Given the description of an element on the screen output the (x, y) to click on. 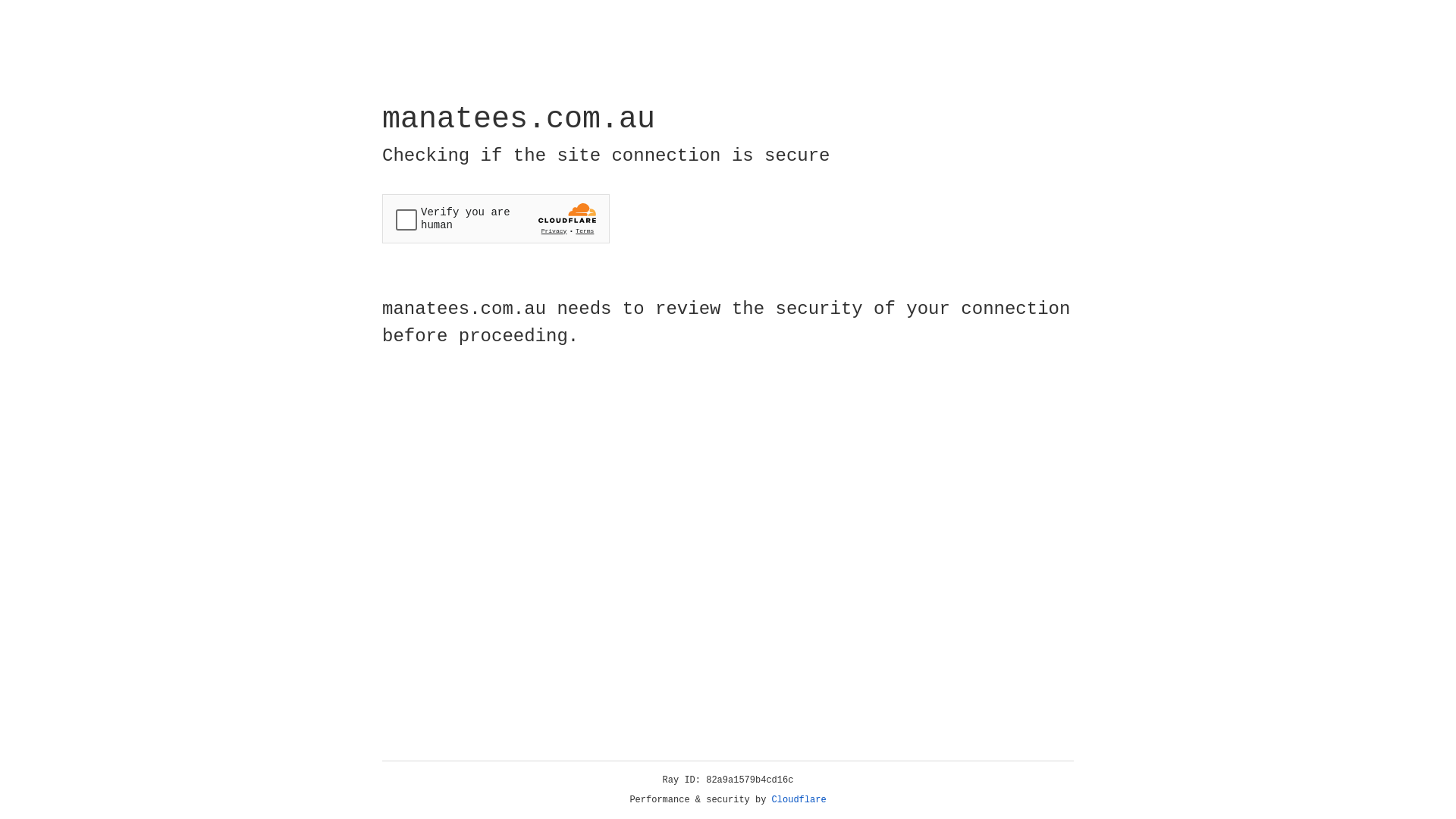
Cloudflare Element type: text (798, 799)
Widget containing a Cloudflare security challenge Element type: hover (495, 218)
